Given the description of an element on the screen output the (x, y) to click on. 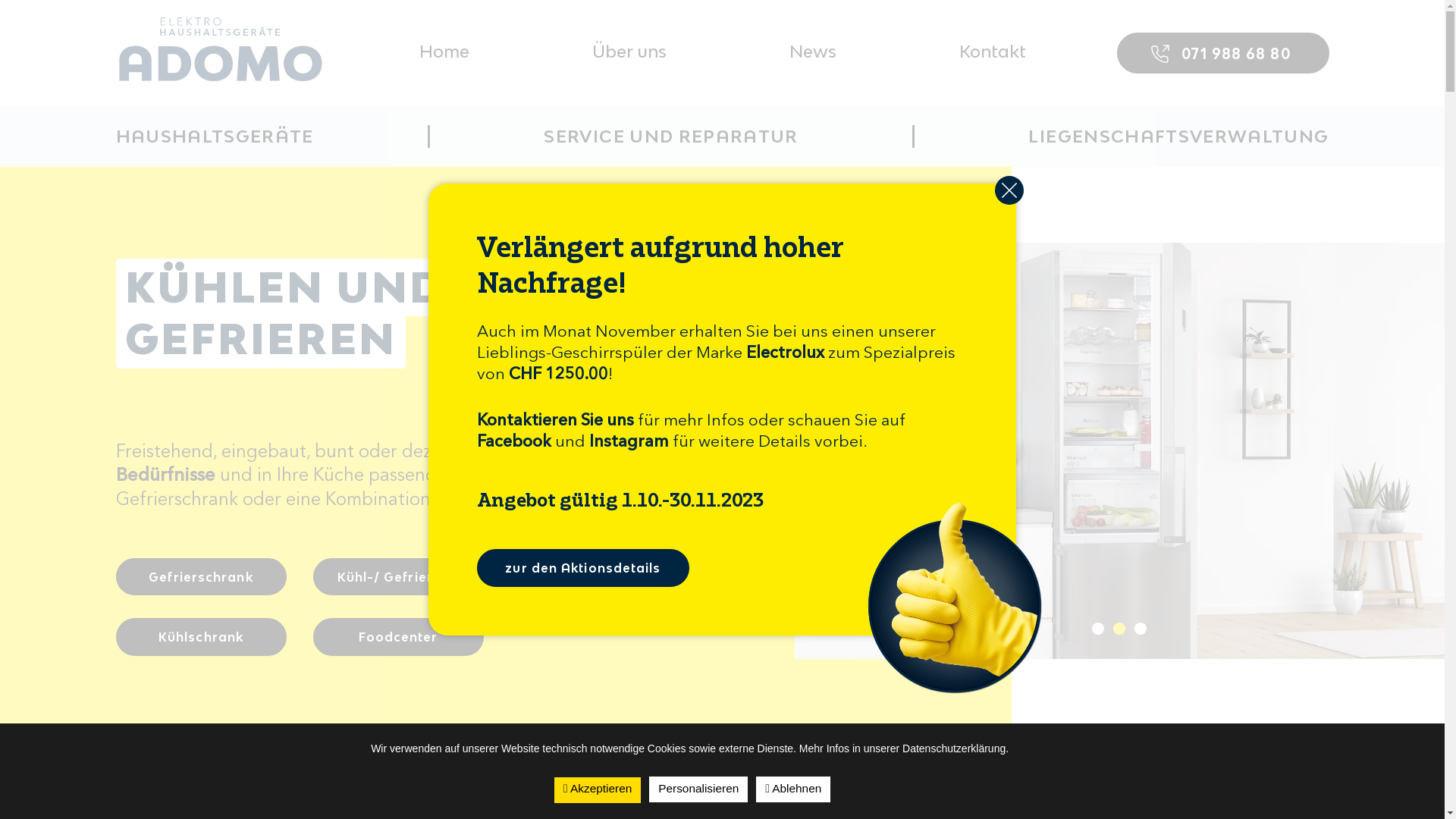
LIEGENSCHAFTSVERWALTUNG Element type: text (1178, 136)
Personalisieren Element type: text (698, 789)
3 Element type: text (1140, 628)
SERVICE UND REPARATUR Element type: text (670, 136)
2 Element type: text (1119, 628)
1 Element type: text (1098, 628)
071 988 68 80 Element type: text (1222, 52)
Kontakt Element type: text (991, 51)
Gefrierschrank Element type: text (200, 577)
News Element type: text (811, 51)
zur den Aktionsdetails Element type: text (582, 567)
Foodcenter Element type: text (397, 636)
Home Element type: text (443, 51)
